Given the description of an element on the screen output the (x, y) to click on. 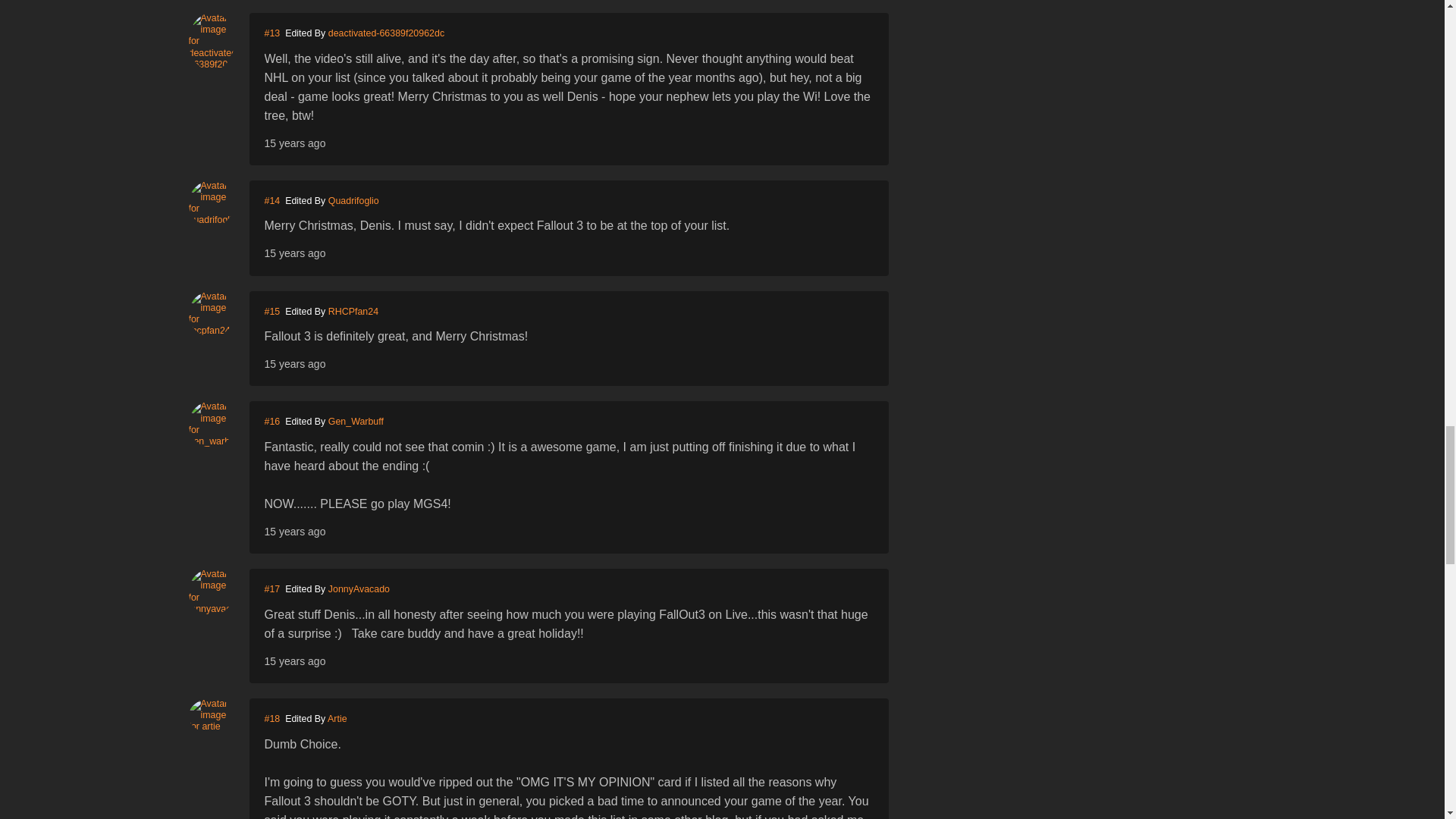
Dec 24, 2008, 9:11am (293, 531)
Dec 24, 2008, 10:16am (293, 661)
Dec 24, 2008, 6:45am (293, 143)
Dec 24, 2008, 7:02am (293, 253)
Dec 24, 2008, 8:13am (293, 363)
